Given the description of an element on the screen output the (x, y) to click on. 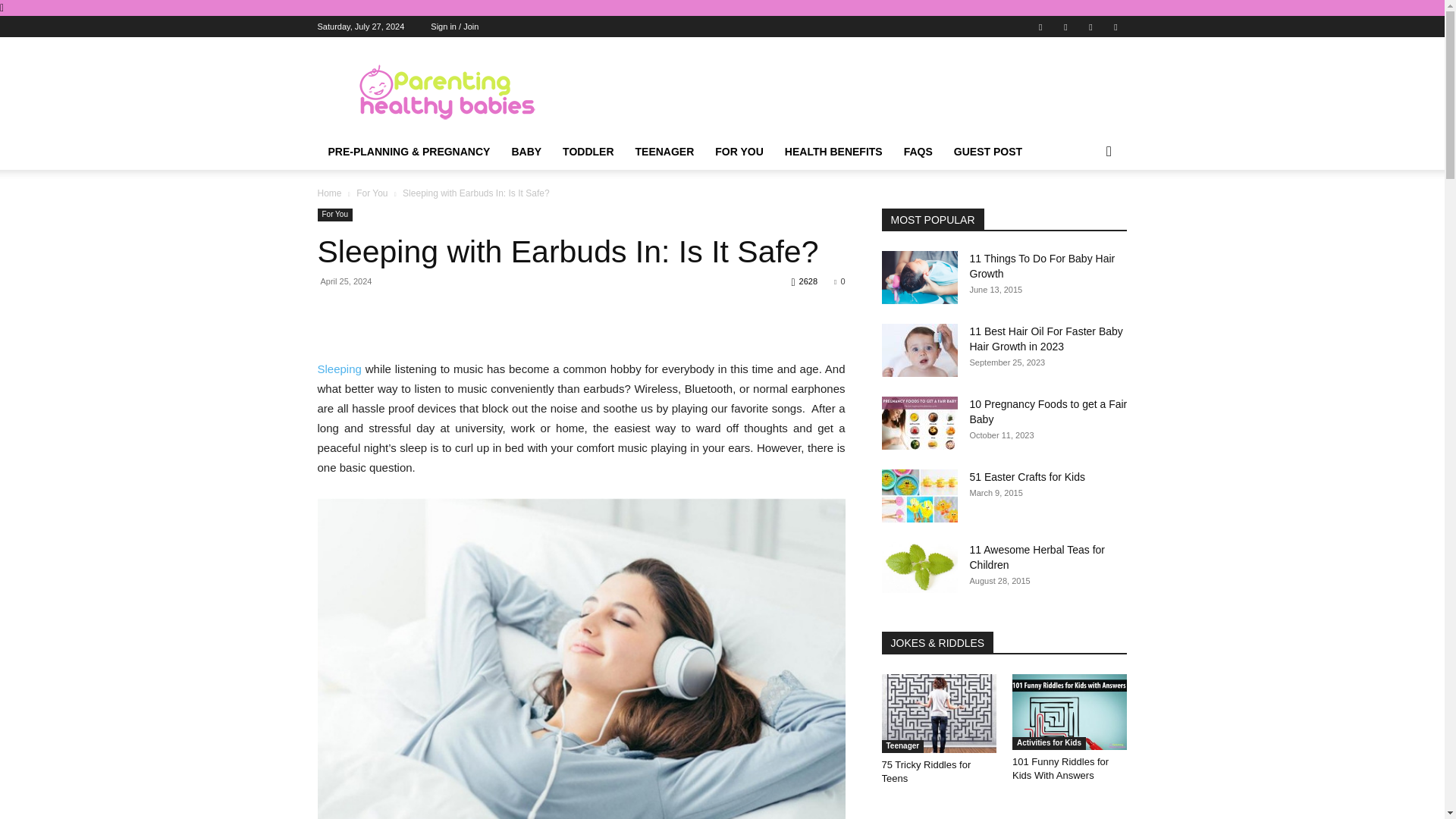
TEENAGER (664, 151)
View all posts in For You (371, 193)
Youtube (1114, 25)
GUEST POST (987, 151)
For You (334, 214)
FAQS (918, 151)
TODDLER (587, 151)
For You (371, 193)
Search (1085, 211)
Pinterest (1065, 25)
FOR YOU (739, 151)
HEALTH BENEFITS (833, 151)
Home (328, 193)
Twitter (1090, 25)
